Given the description of an element on the screen output the (x, y) to click on. 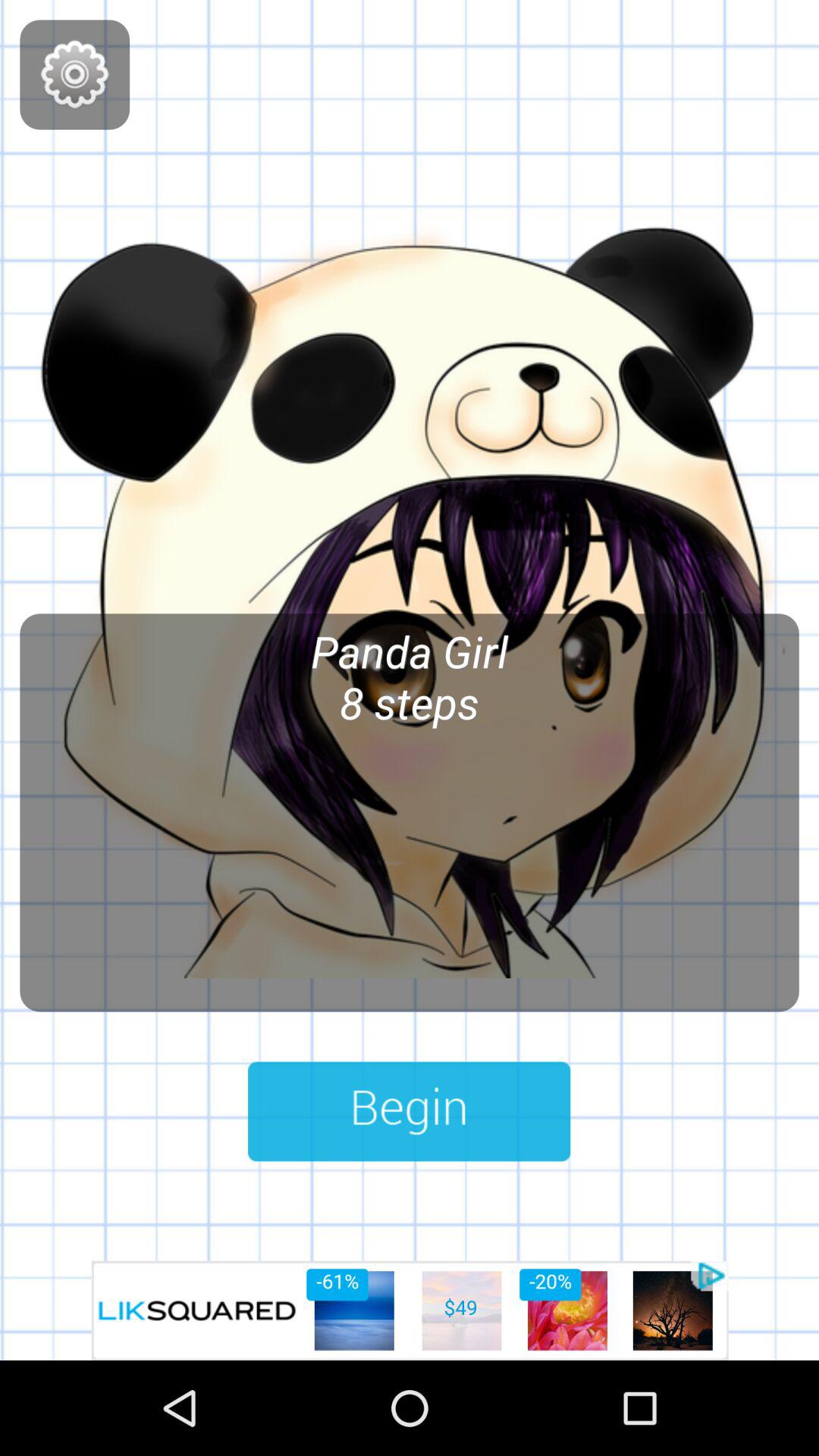
setting the mobile (74, 74)
